Given the description of an element on the screen output the (x, y) to click on. 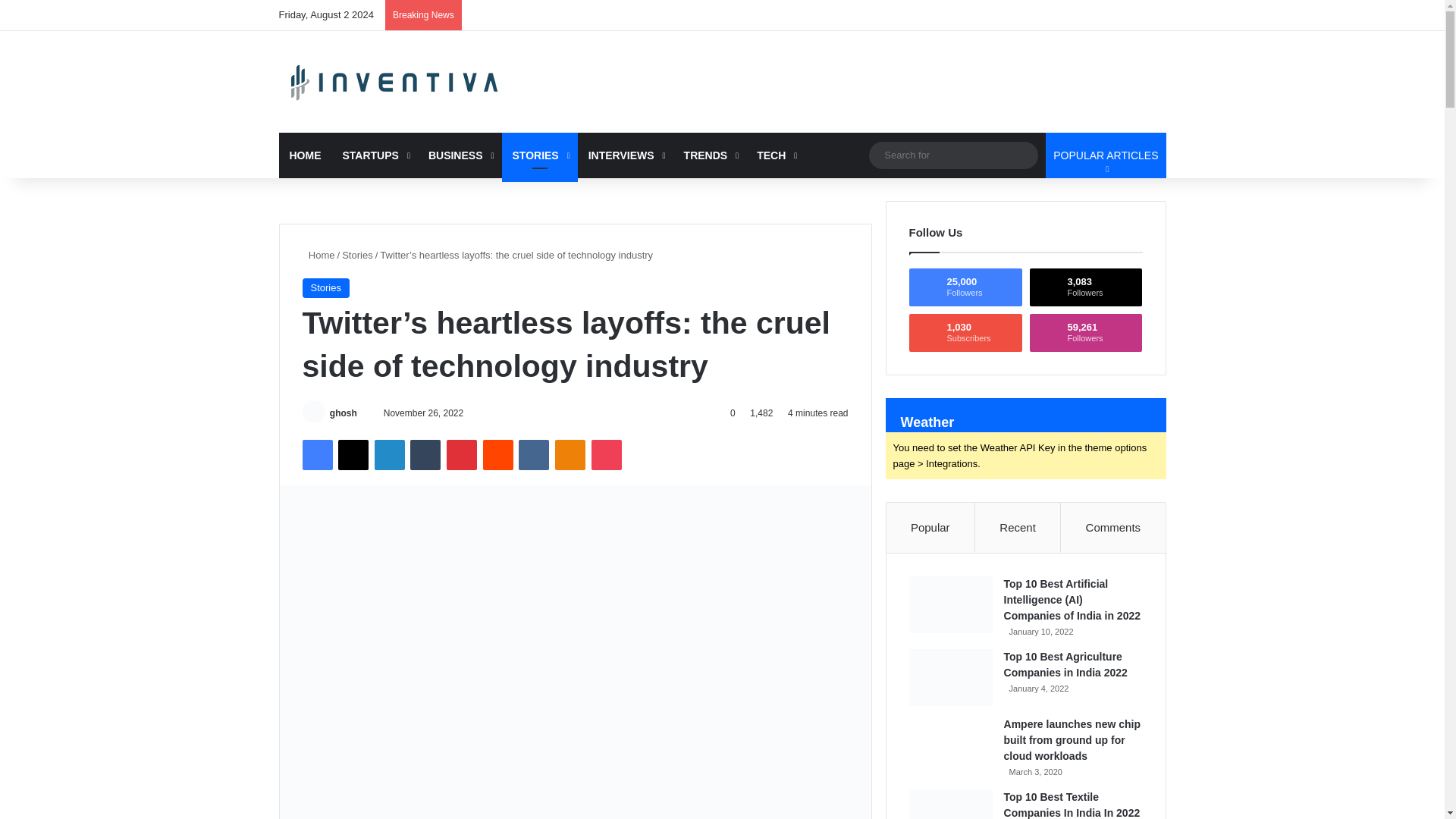
STARTUPS (374, 155)
HOME (305, 155)
Reddit (498, 454)
Search for (953, 154)
ghosh (343, 412)
Pinterest (461, 454)
LinkedIn (389, 454)
Tumblr (425, 454)
VKontakte (533, 454)
BUSINESS (459, 155)
X (352, 454)
Facebook (316, 454)
Inventiva (395, 81)
